Given the description of an element on the screen output the (x, y) to click on. 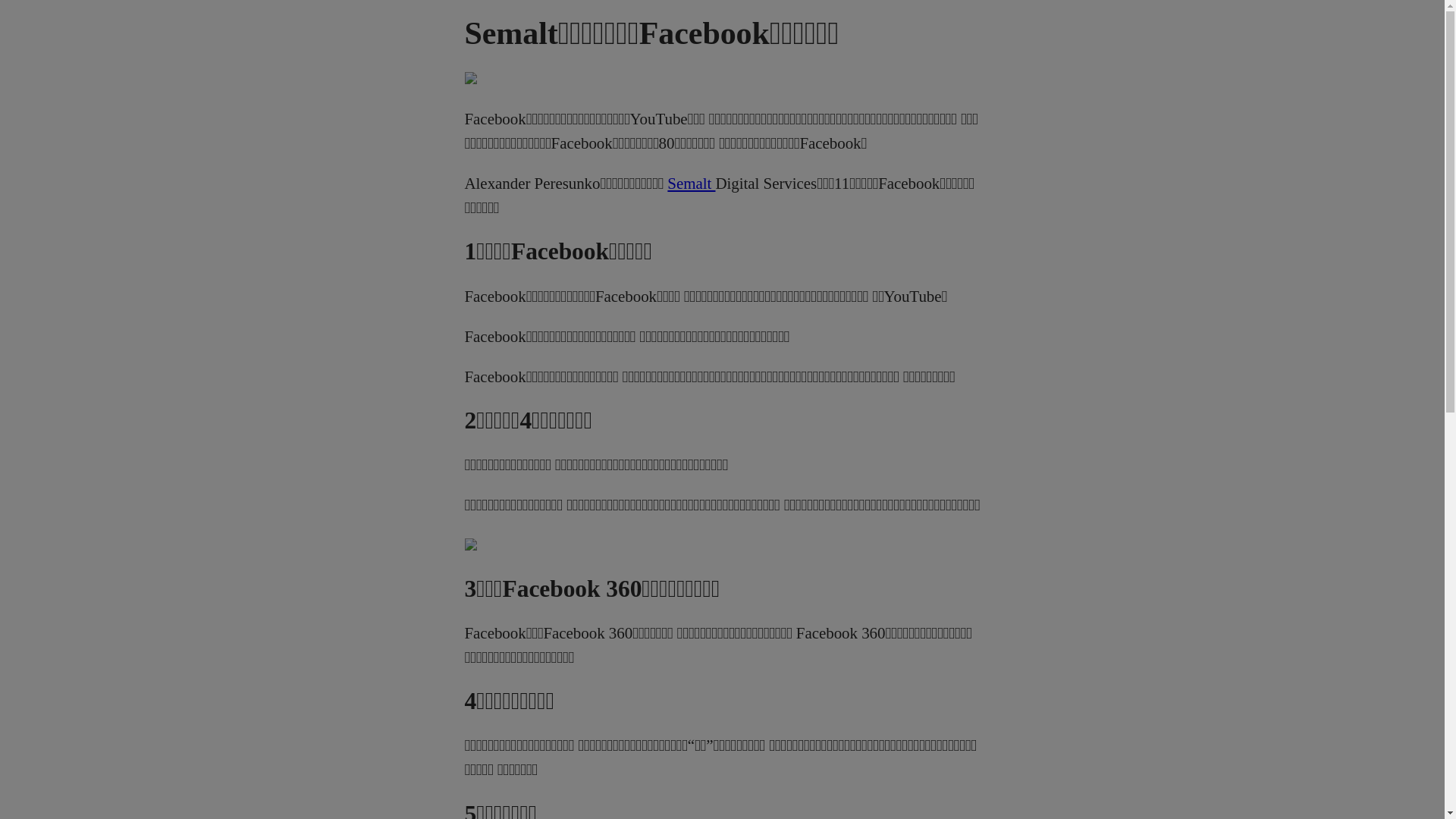
Semalt Element type: text (691, 183)
